Given the description of an element on the screen output the (x, y) to click on. 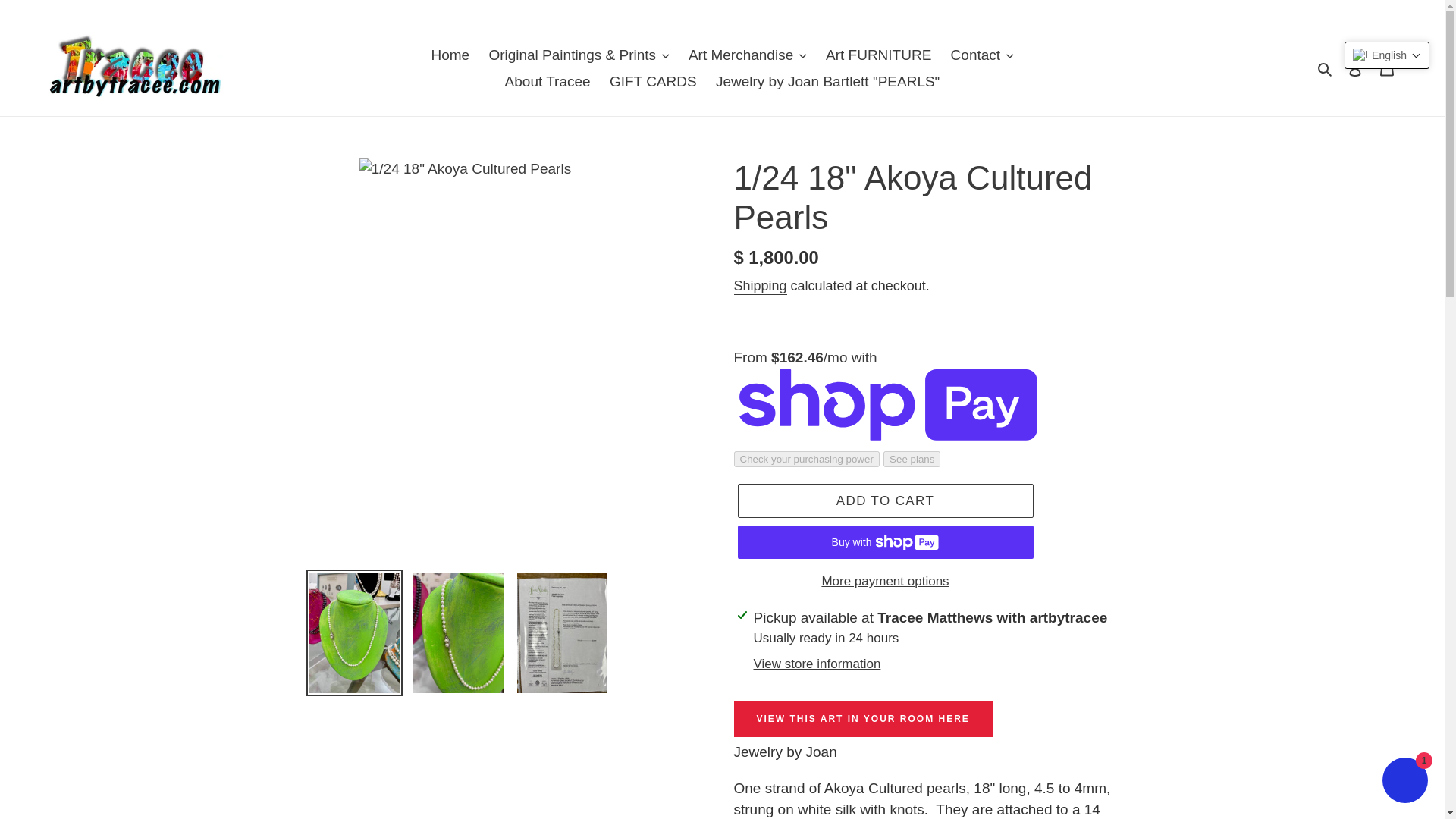
Art Merchandise (747, 55)
Jewelry by Joan Bartlett "PEARLS" (827, 81)
Art FURNITURE (878, 55)
Shopify online store chat (1404, 781)
Home (450, 55)
Contact (982, 55)
About Tracee (547, 81)
GIFT CARDS (653, 81)
